Given the description of an element on the screen output the (x, y) to click on. 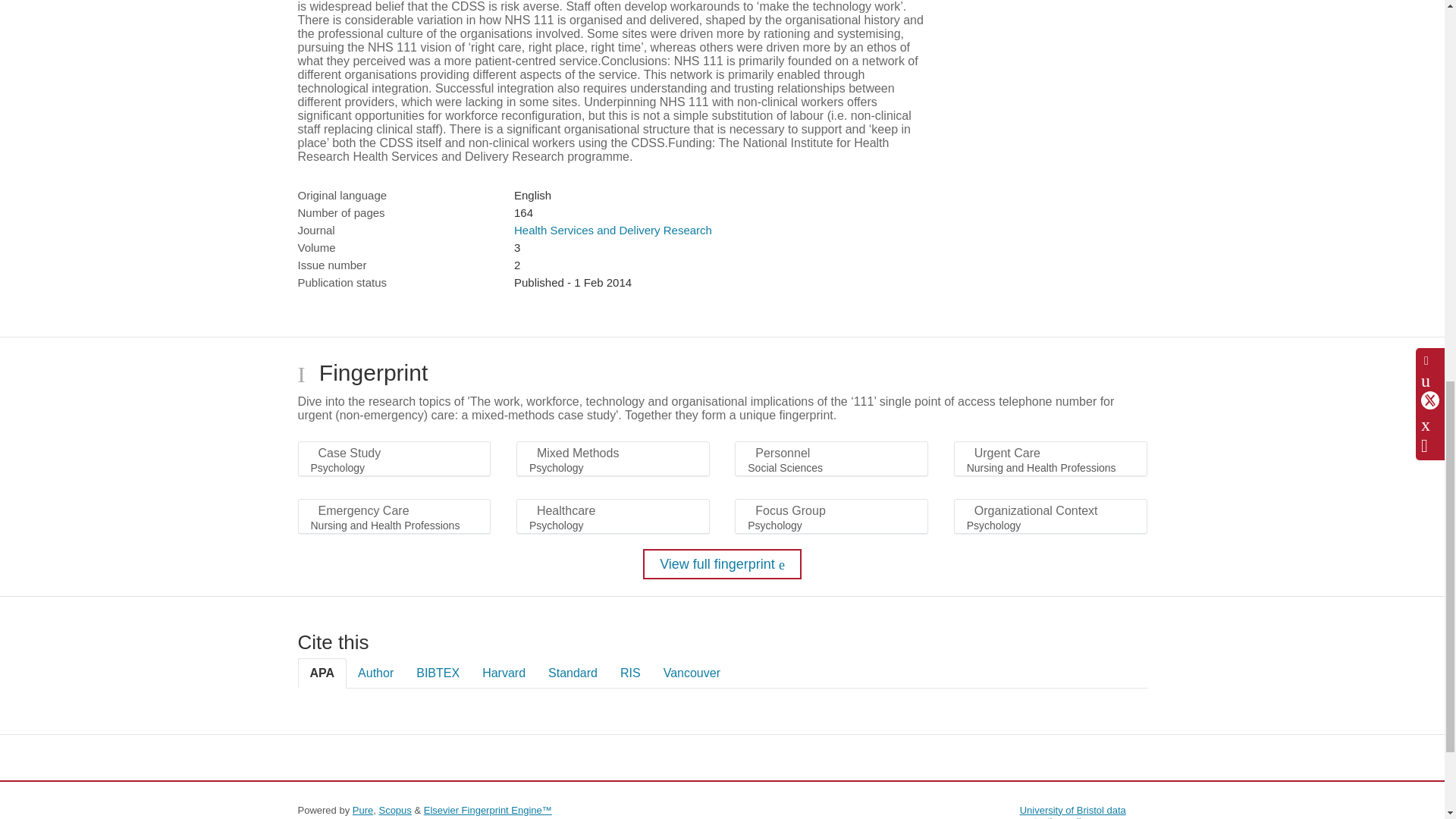
View full fingerprint (722, 563)
Health Services and Delivery Research (612, 229)
